Given the description of an element on the screen output the (x, y) to click on. 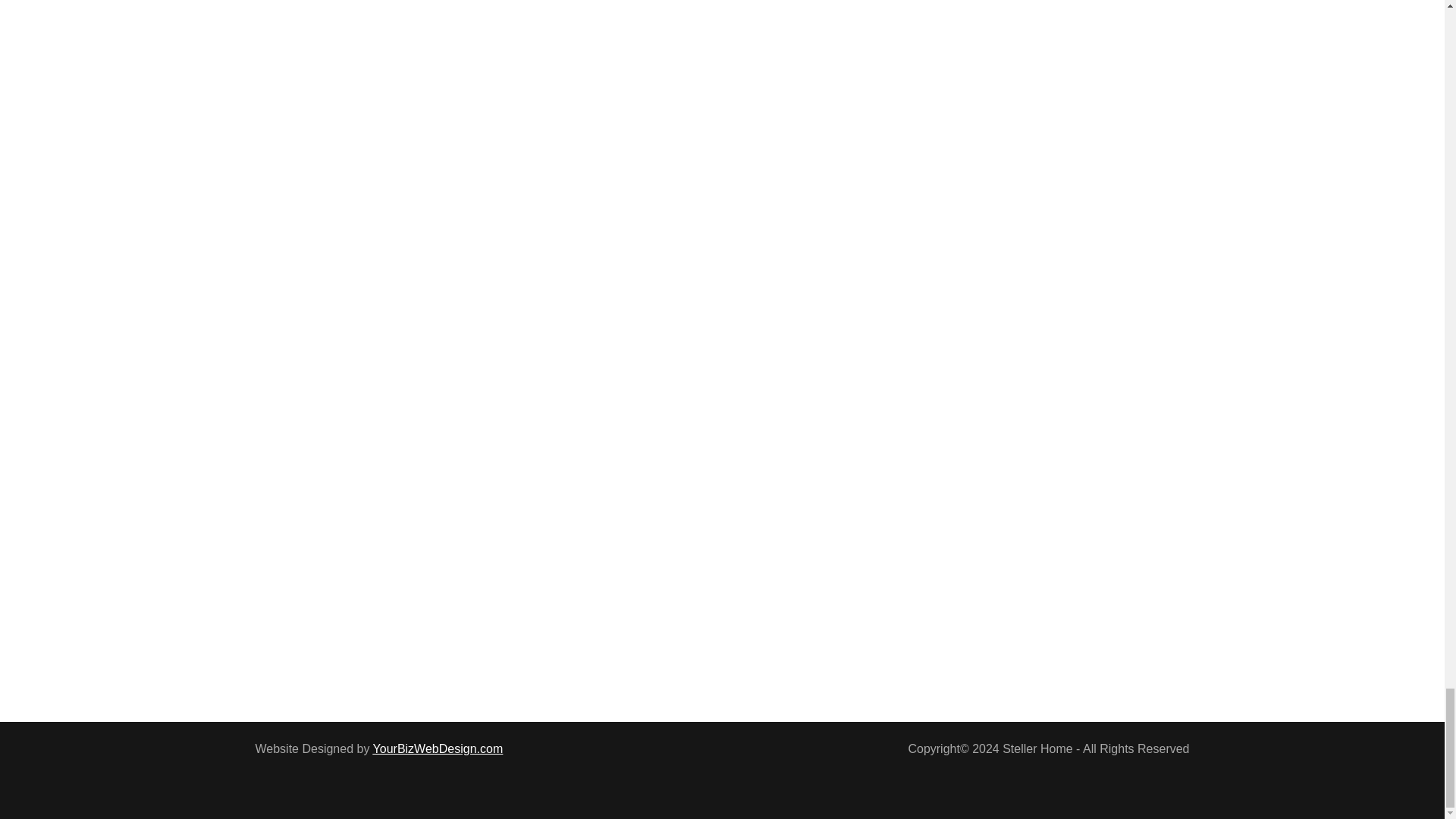
YourBizWebDesign.com (437, 748)
